Given the description of an element on the screen output the (x, y) to click on. 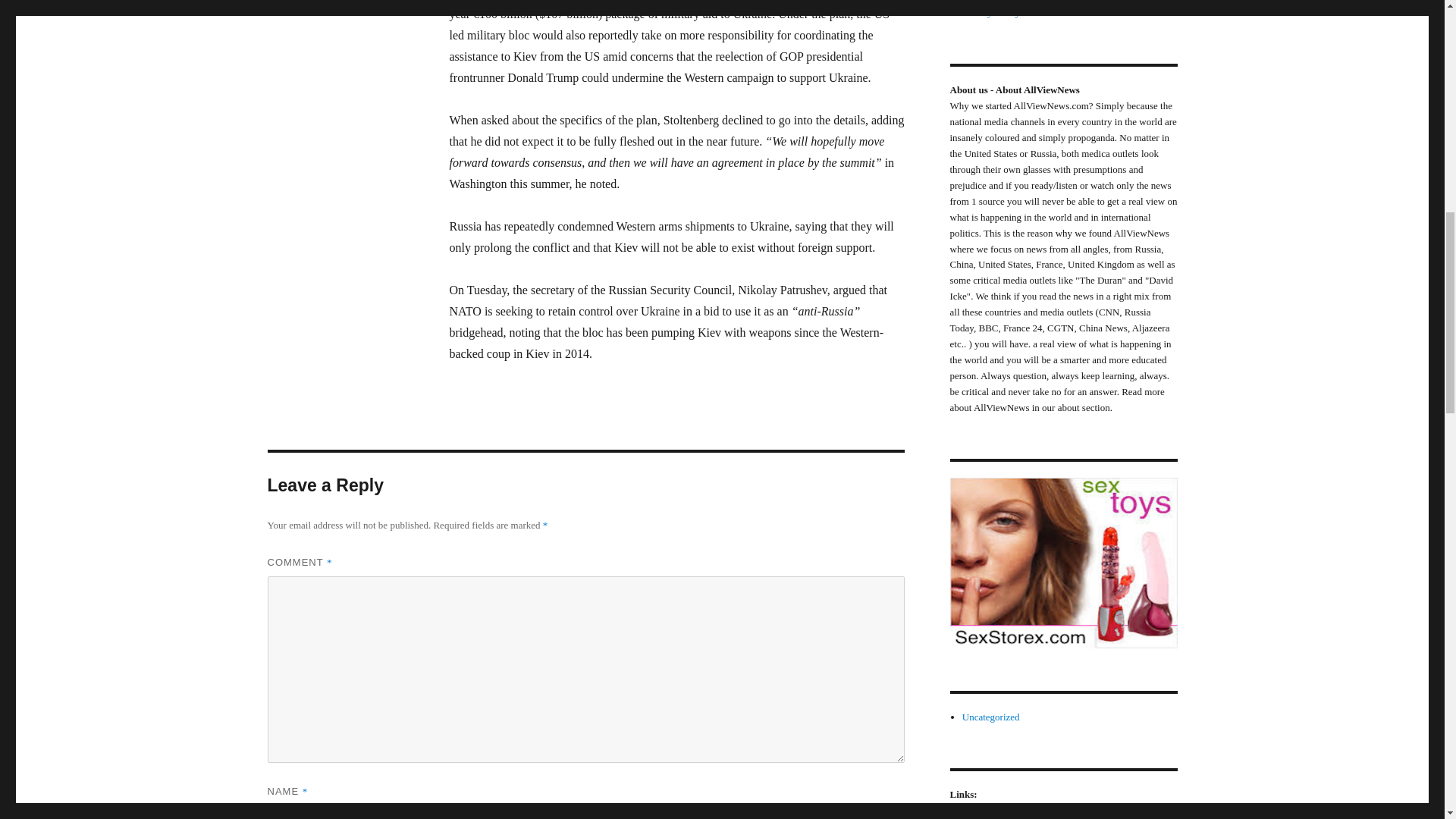
Sex Toys (1062, 562)
